Given the description of an element on the screen output the (x, y) to click on. 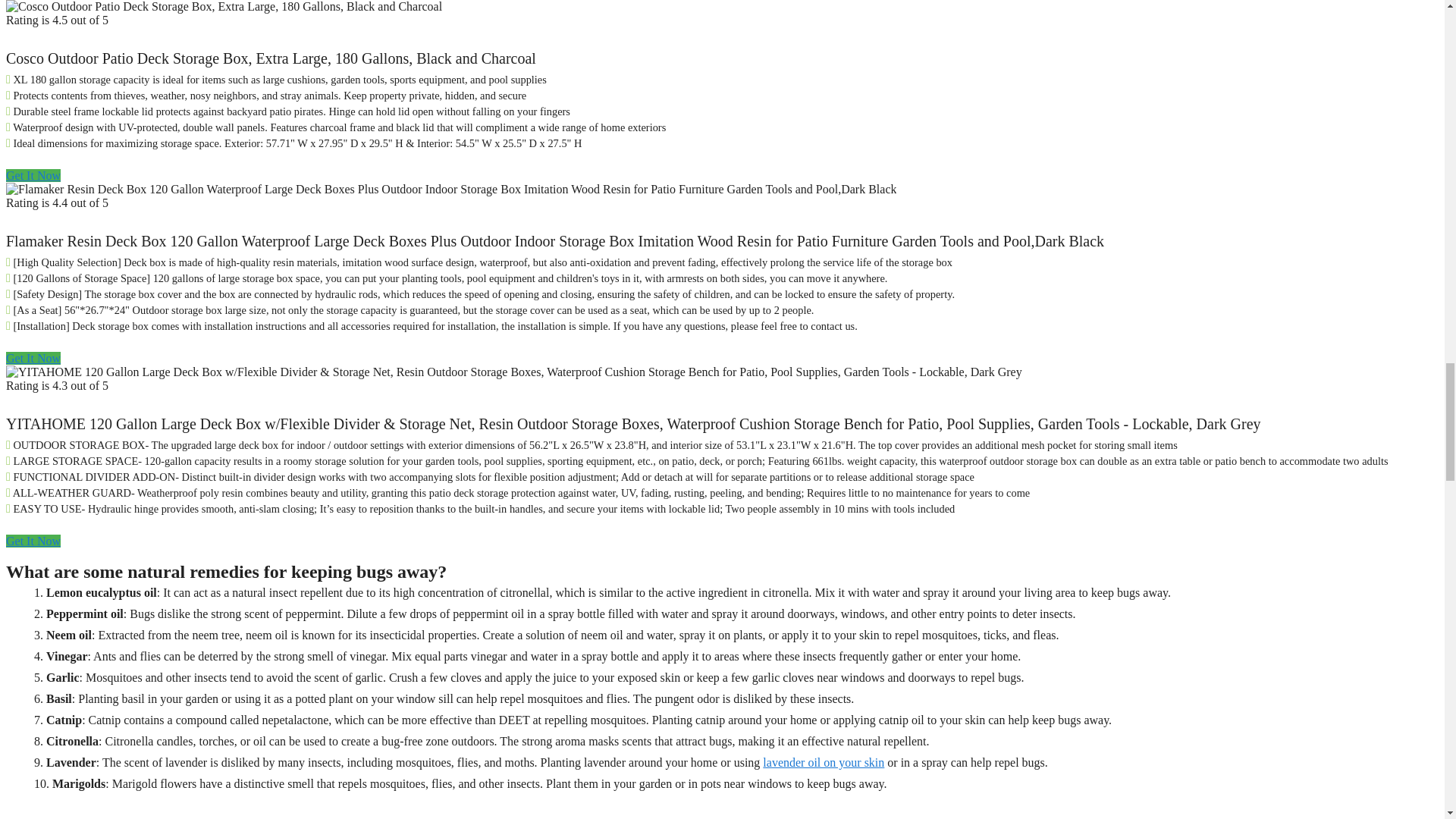
Get It Now (33, 358)
Get It Now (33, 174)
